Given the description of an element on the screen output the (x, y) to click on. 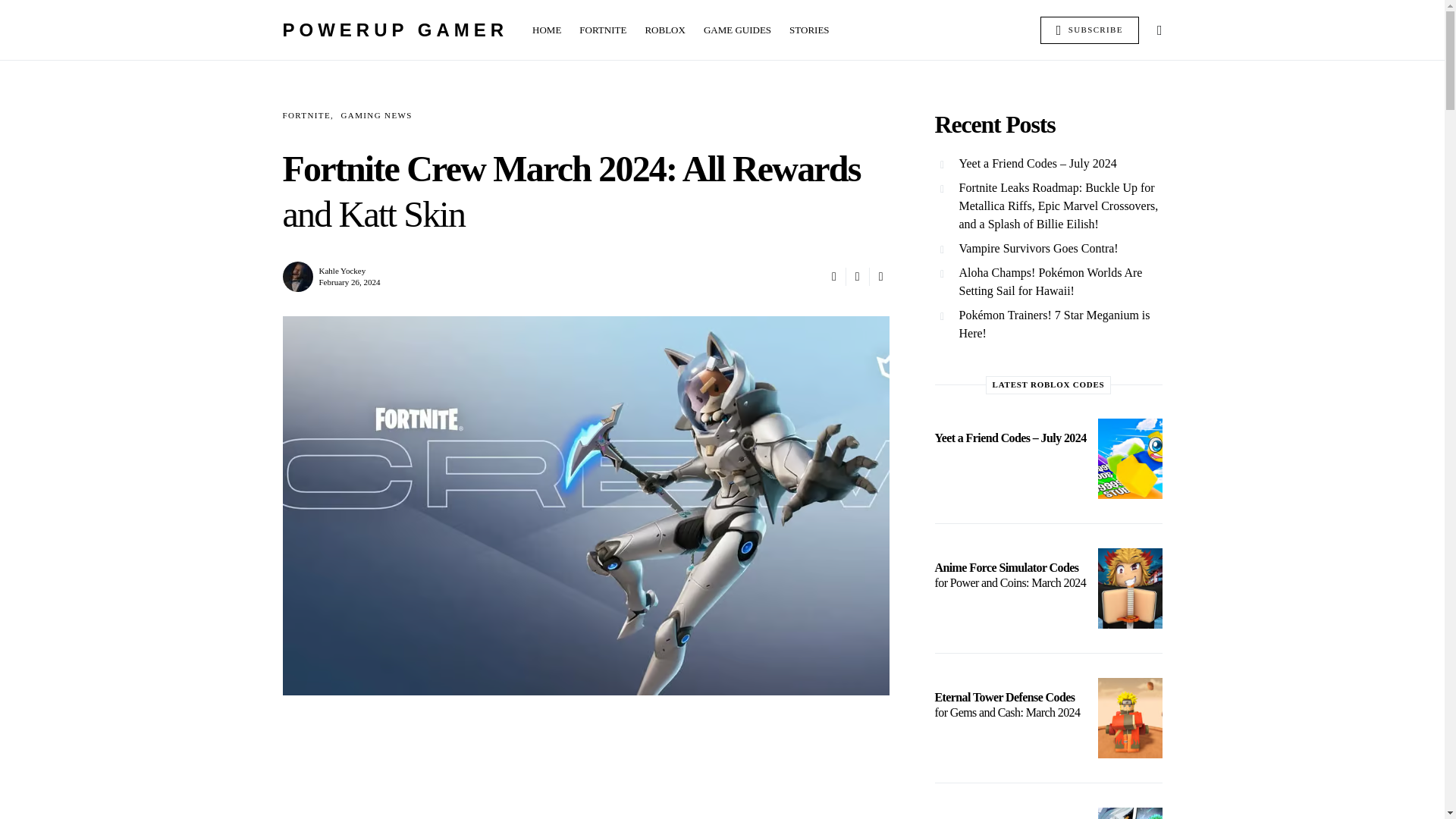
FORTNITE (602, 30)
POWERUP GAMER (395, 29)
ROBLOX (664, 30)
Kahle Yockey (341, 269)
GAME GUIDES (737, 30)
SUBSCRIBE (1089, 30)
GAMING NEWS (376, 114)
FORTNITE (306, 114)
